Given the description of an element on the screen output the (x, y) to click on. 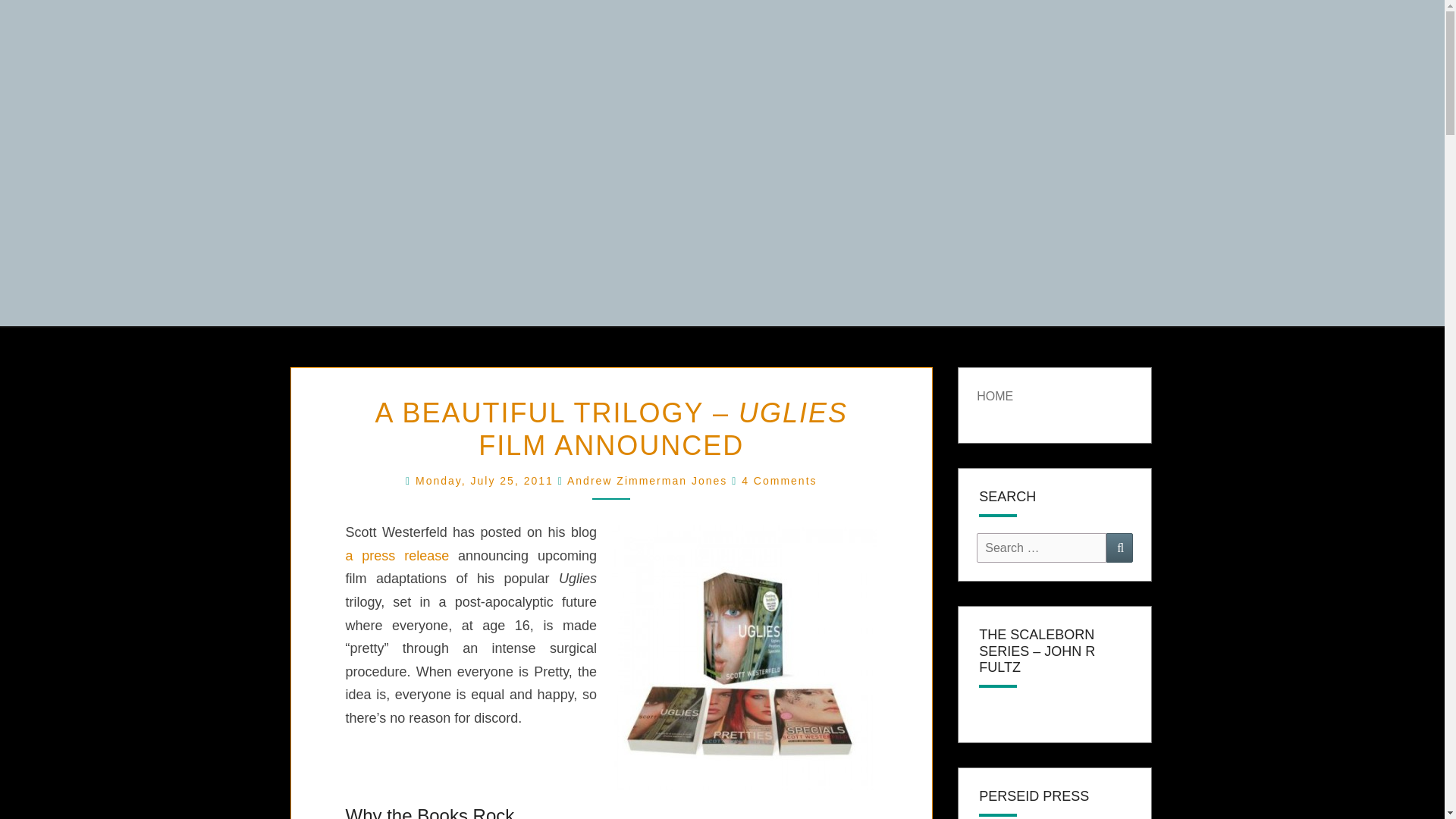
HOME (994, 395)
Monday, July 25, 2011 (485, 480)
a press release (397, 555)
Andrew Zimmerman Jones (646, 480)
Search (1119, 547)
View all posts by Andrew Zimmerman Jones (646, 480)
4 Comments (778, 480)
12:24 pm (485, 480)
